Given the description of an element on the screen output the (x, y) to click on. 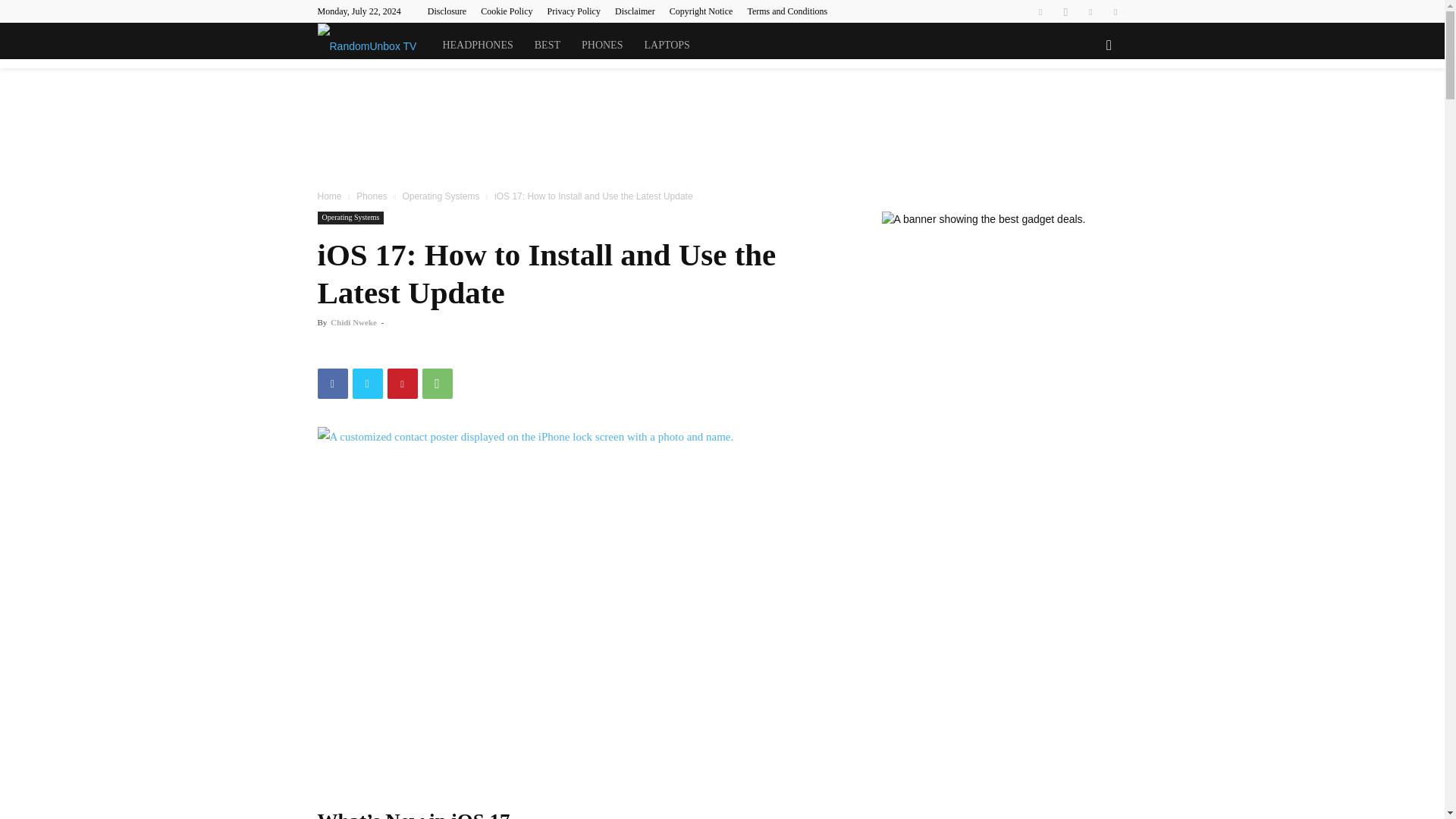
Youtube (1114, 11)
RandomUnboxTV (373, 45)
View all posts in Phones (371, 195)
Phones (371, 195)
Disclaimer (634, 10)
Copyright Notice (701, 10)
Operating Systems (350, 217)
Chidi Nweke (353, 321)
Cookie Policy (506, 10)
Disclosure (446, 10)
View all posts in Operating Systems (440, 195)
Twitter (1090, 11)
RandomUnbox TV (366, 45)
Operating Systems (440, 195)
Pinterest (401, 383)
